Given the description of an element on the screen output the (x, y) to click on. 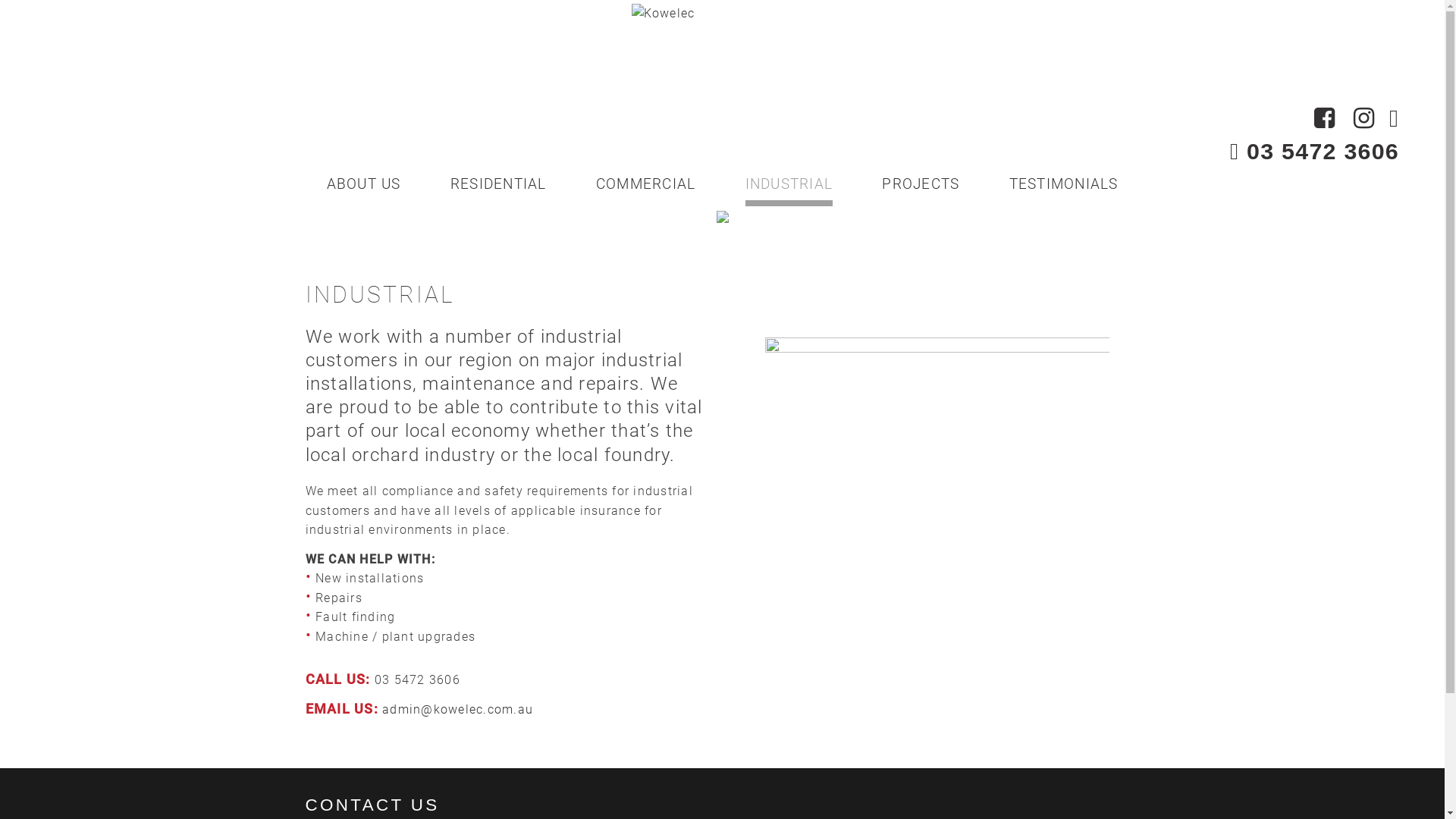
COMMERCIAL Element type: text (646, 187)
ABOUT US Element type: text (363, 187)
TESTIMONIALS Element type: text (1062, 187)
admin@kowelec.com.au Element type: text (457, 709)
PROJECTS Element type: text (920, 187)
RESIDENTIAL Element type: text (498, 187)
INDUSTRIAL Element type: text (788, 187)
03 5472 3606 Element type: text (1314, 150)
